Given the description of an element on the screen output the (x, y) to click on. 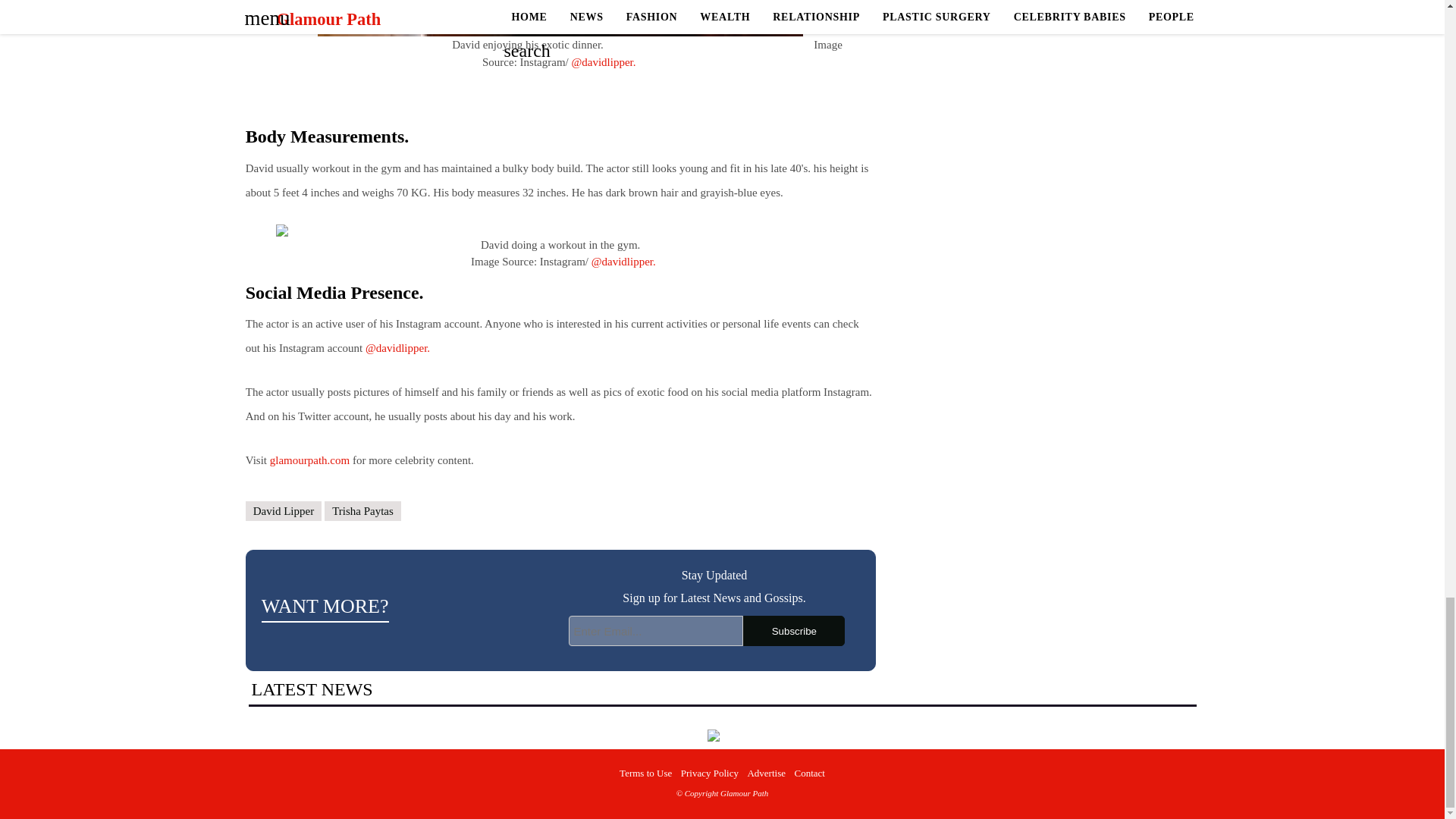
Terms to Use (645, 772)
Trisha Paytas (362, 511)
Subscribe (793, 630)
glamourpath.com (309, 460)
David Lipper (283, 511)
